Given the description of an element on the screen output the (x, y) to click on. 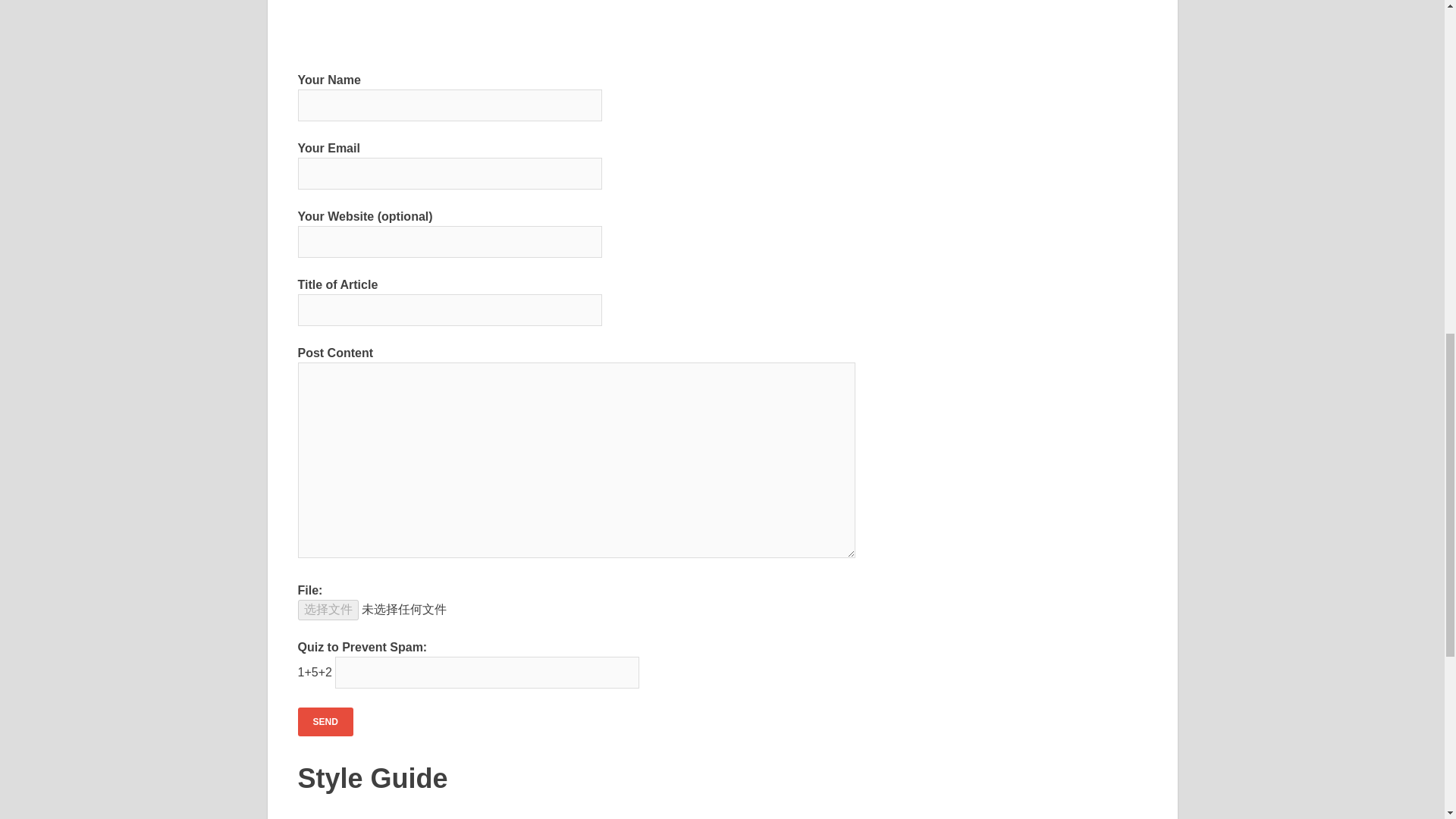
Send (324, 721)
Send (324, 721)
